Given the description of an element on the screen output the (x, y) to click on. 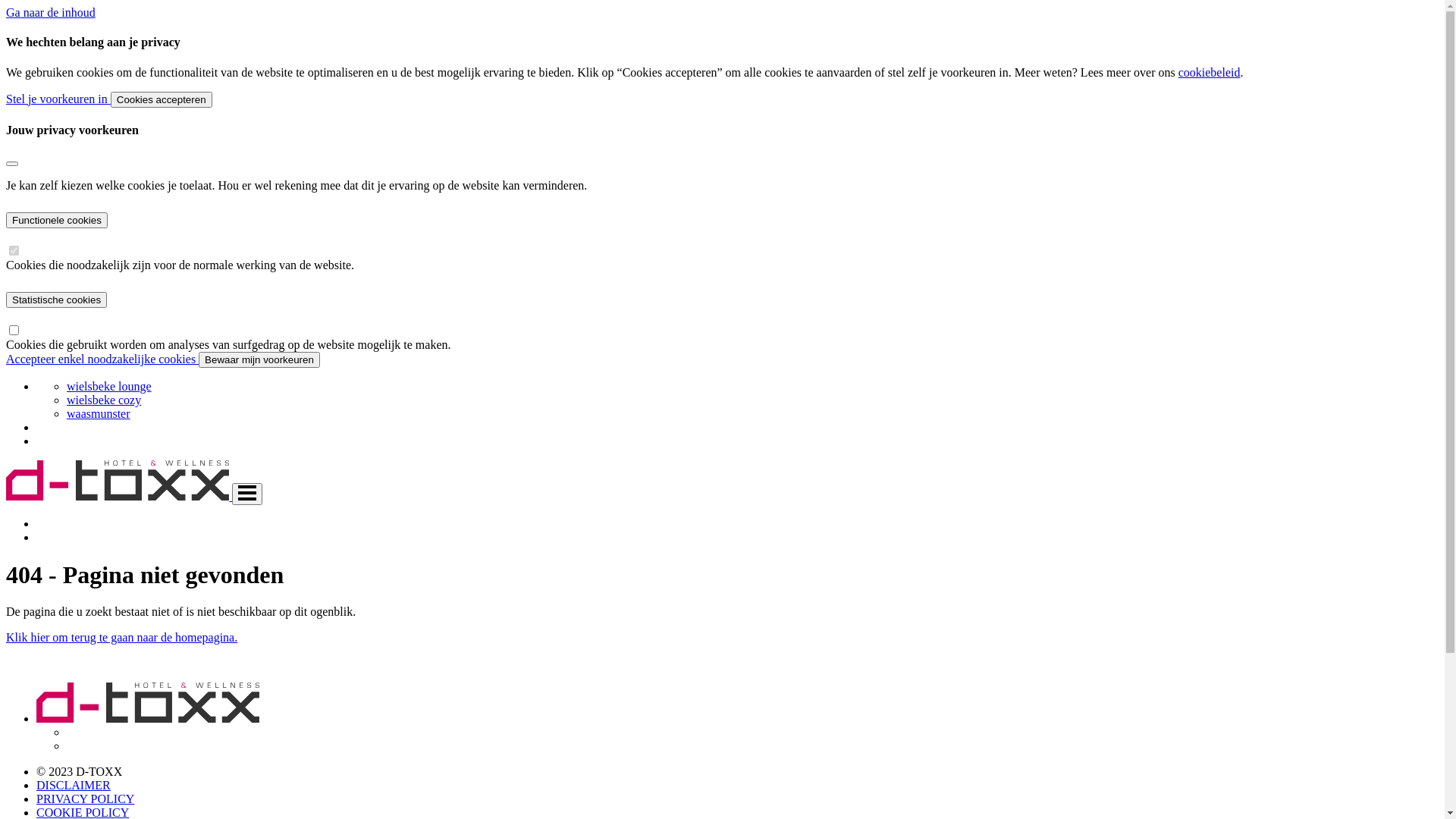
Klik hier om terug te gaan naar de homepagina. Element type: text (121, 636)
sluiten Element type: hover (12, 163)
wielsbeke lounge Element type: text (108, 385)
Ga naar de inhoud Element type: text (50, 12)
Functionele cookies Element type: text (56, 220)
Cookies accepteren Element type: text (161, 99)
wielsbeke cozy Element type: text (103, 399)
PRIVACY POLICY Element type: text (85, 798)
Statistische cookies Element type: text (56, 299)
cookiebeleid Element type: text (1209, 71)
waasmunster Element type: text (98, 413)
Accepteer enkel noodzakelijke cookies Element type: text (102, 358)
D-TOXX Element type: hover (147, 718)
Bewaar mijn voorkeuren Element type: text (259, 359)
DISCLAIMER Element type: text (73, 784)
Stel je voorkeuren in Element type: text (58, 98)
